Given the description of an element on the screen output the (x, y) to click on. 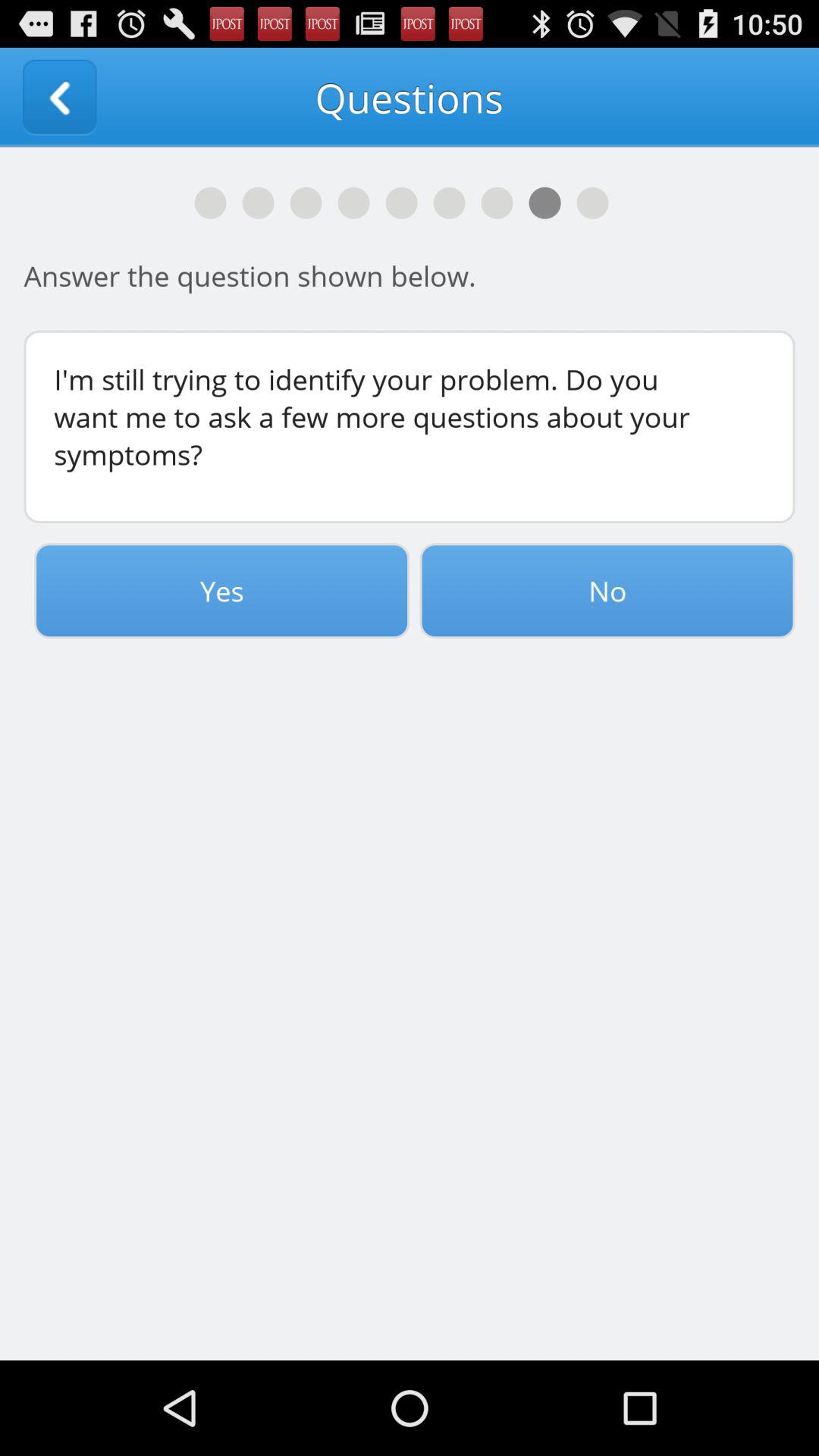
scroll to the no item (607, 590)
